Given the description of an element on the screen output the (x, y) to click on. 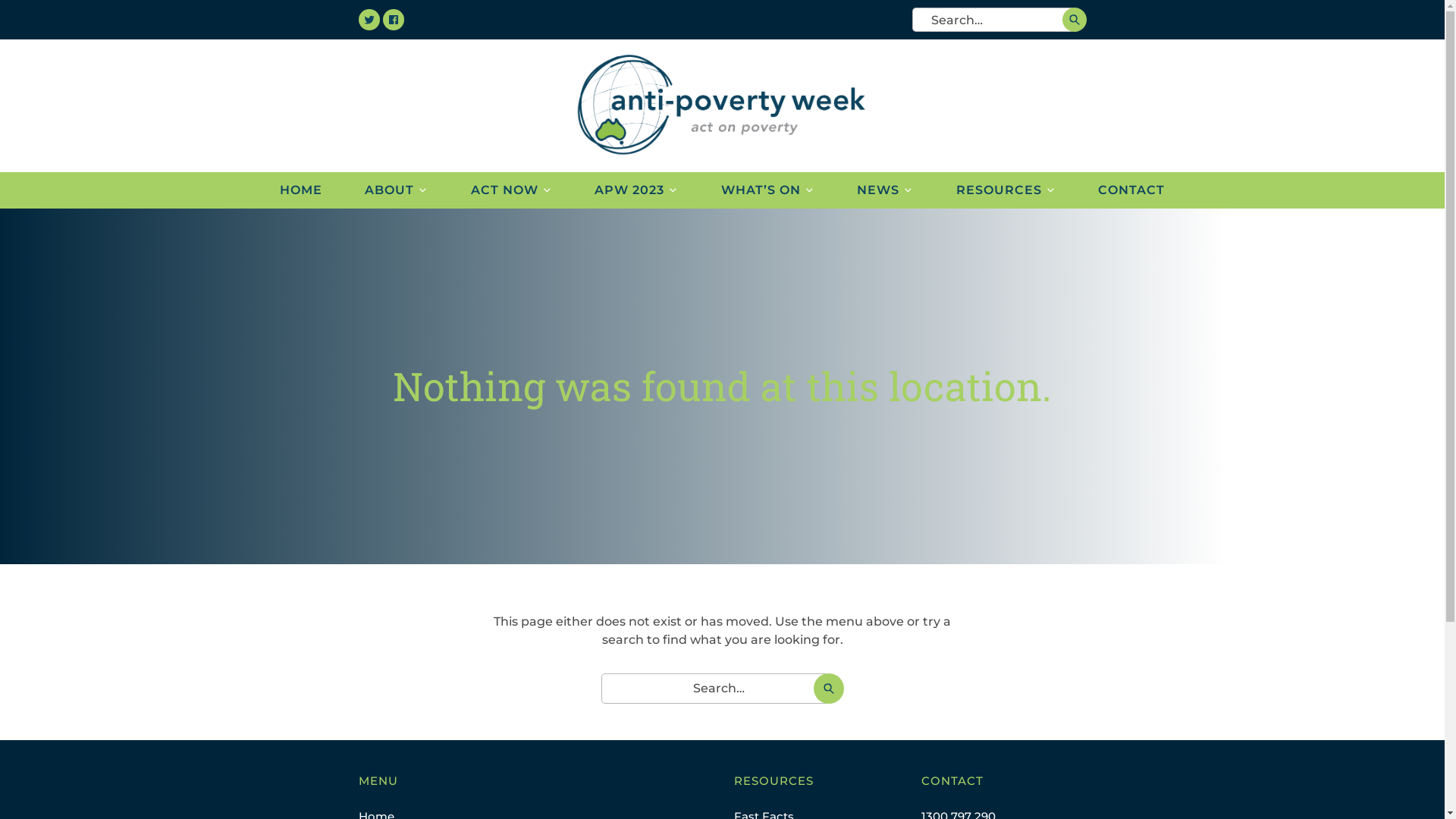
APW 2023 Element type: text (635, 190)
Search Element type: hover (1073, 19)
CONTACT Element type: text (1131, 190)
NEWS Element type: text (884, 190)
HOME Element type: text (300, 190)
RESOURCES Element type: text (1005, 190)
ABOUT Element type: text (395, 190)
ACT NOW Element type: text (511, 190)
Search Element type: hover (827, 688)
